Given the description of an element on the screen output the (x, y) to click on. 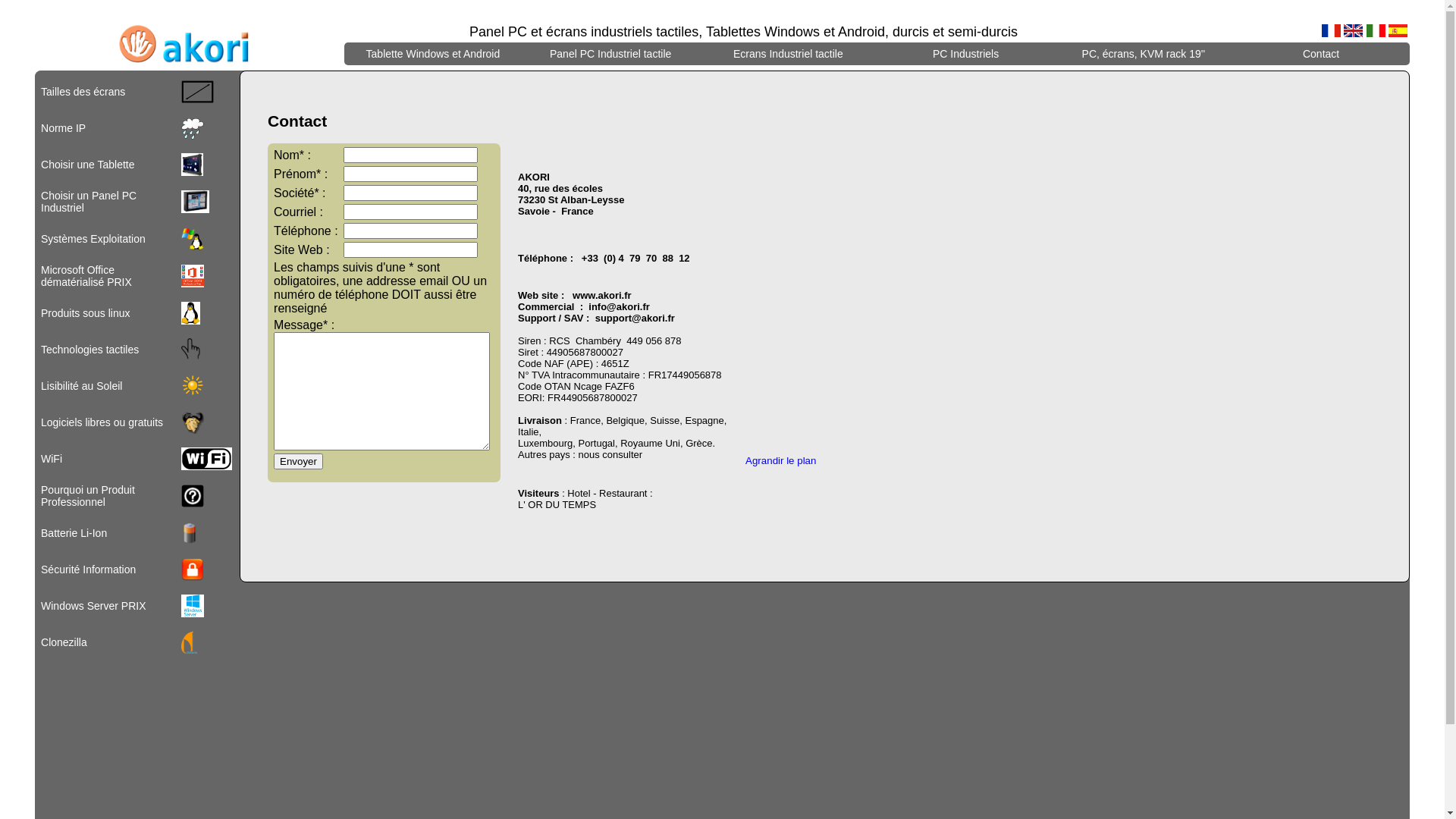
Versione italiana del sito Element type: hover (1375, 30)
WiFi Element type: text (51, 458)
Agrandir le plan Element type: text (780, 460)
Contact Element type: text (1320, 53)
Windows Server PRIX Element type: text (92, 605)
Website in English Element type: hover (1352, 30)
Tablette Windows et Android Element type: text (433, 53)
Ecrans Industriel tactile Element type: text (788, 53)
Contact Element type: text (1320, 53)
info@akori.fr Element type: text (618, 306)
Produits sous linux Element type: text (85, 313)
Choisir une Tablette Element type: text (87, 164)
Logiciels libres ou gratuits Element type: text (101, 422)
support@akori.fr Element type: text (634, 317)
Pourquoi un Produit Professionnel Element type: text (87, 495)
www.akori.fr Element type: text (601, 295)
L' OR DU TEMPS Element type: text (556, 504)
Norme IP Element type: text (62, 128)
PC Industriels Element type: text (965, 53)
Clonezilla Element type: text (63, 642)
Batterie Li-Ion Element type: text (73, 533)
Panel PC Industriel tactile Element type: text (610, 53)
Tablette Windows et Android Element type: text (432, 53)
Envoyer Element type: text (298, 461)
Technologies tactiles Element type: text (89, 349)
Choisir un Panel PC Industriel Element type: text (88, 201)
PC Industriels Element type: text (965, 53)
